Given the description of an element on the screen output the (x, y) to click on. 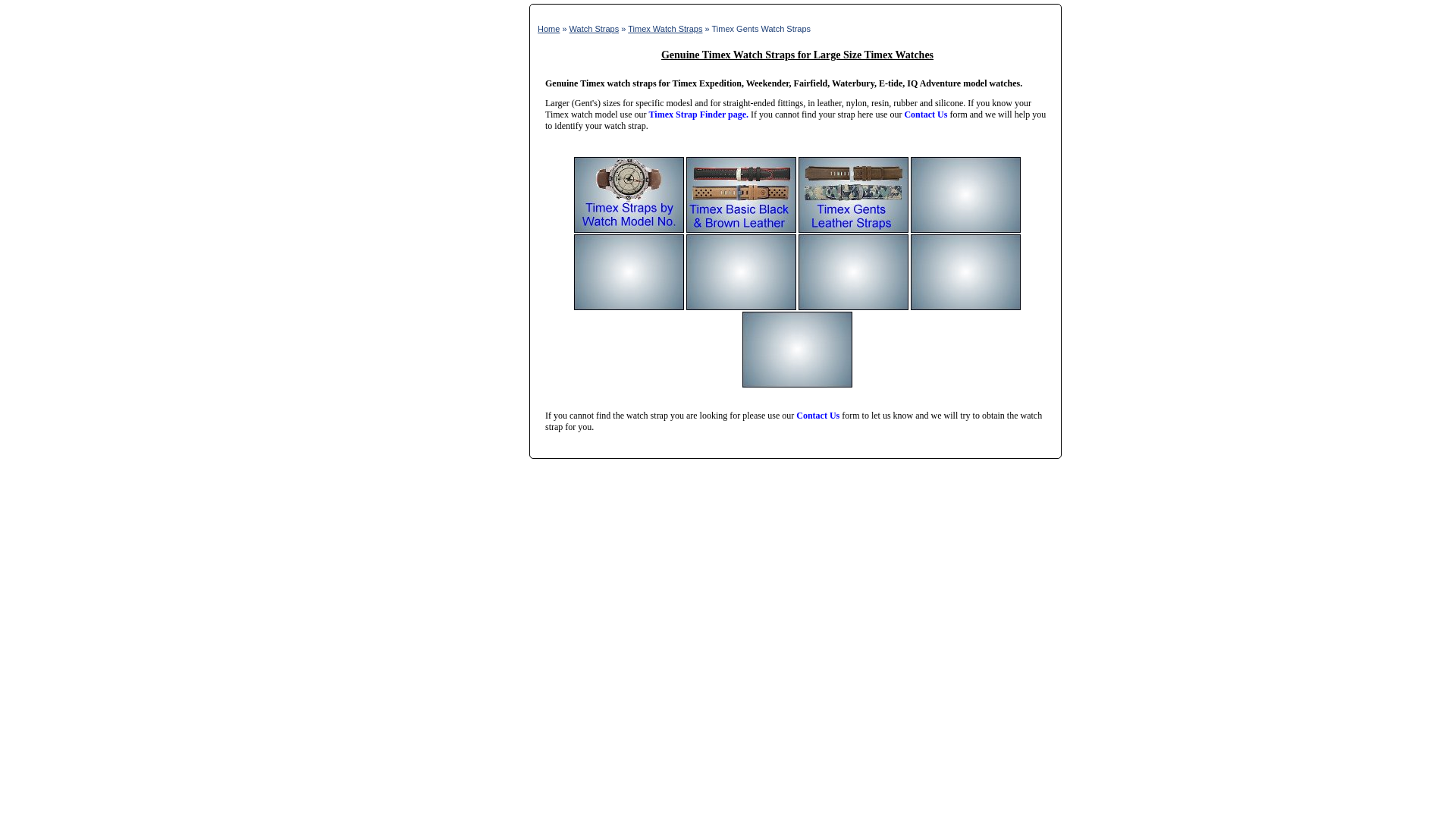
Watch Battery contact form (925, 113)
WatchBattery Home (548, 28)
Timex Watch Strap Cross Reference (699, 113)
Home (548, 28)
Timex Watch Straps (664, 28)
Contact Us (818, 415)
Watch Battery contact form (818, 415)
Timex Strap Finder page. (699, 113)
Contact Us (925, 113)
Watch Straps (594, 28)
